Given the description of an element on the screen output the (x, y) to click on. 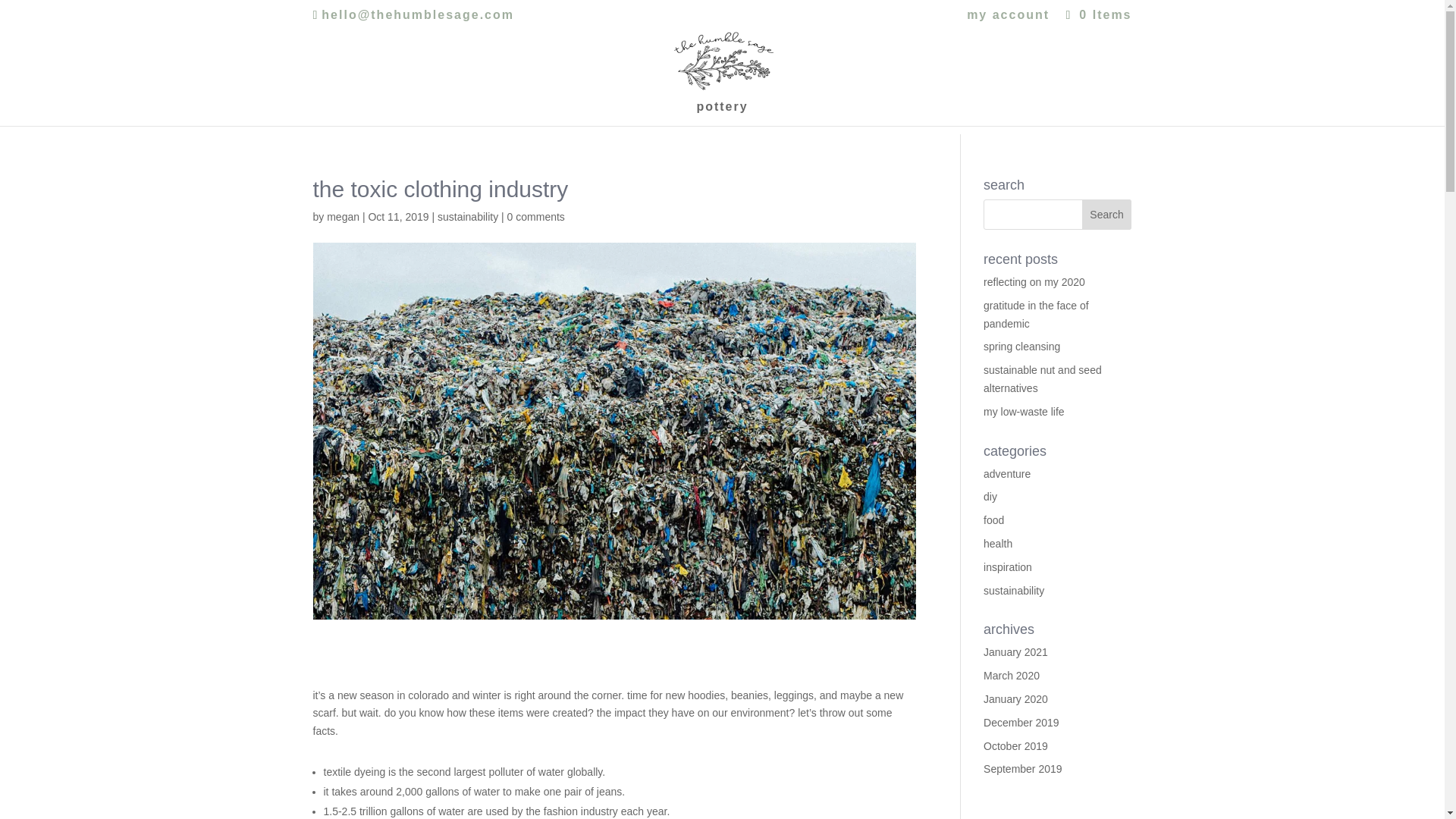
January 2020 (1016, 698)
health (997, 543)
my account (1007, 19)
0 Items (1096, 14)
my low-waste life (1024, 411)
October 2019 (1016, 746)
gratitude in the face of pandemic (1036, 314)
0 comments (535, 216)
inspiration (1008, 567)
food (994, 520)
